Given the description of an element on the screen output the (x, y) to click on. 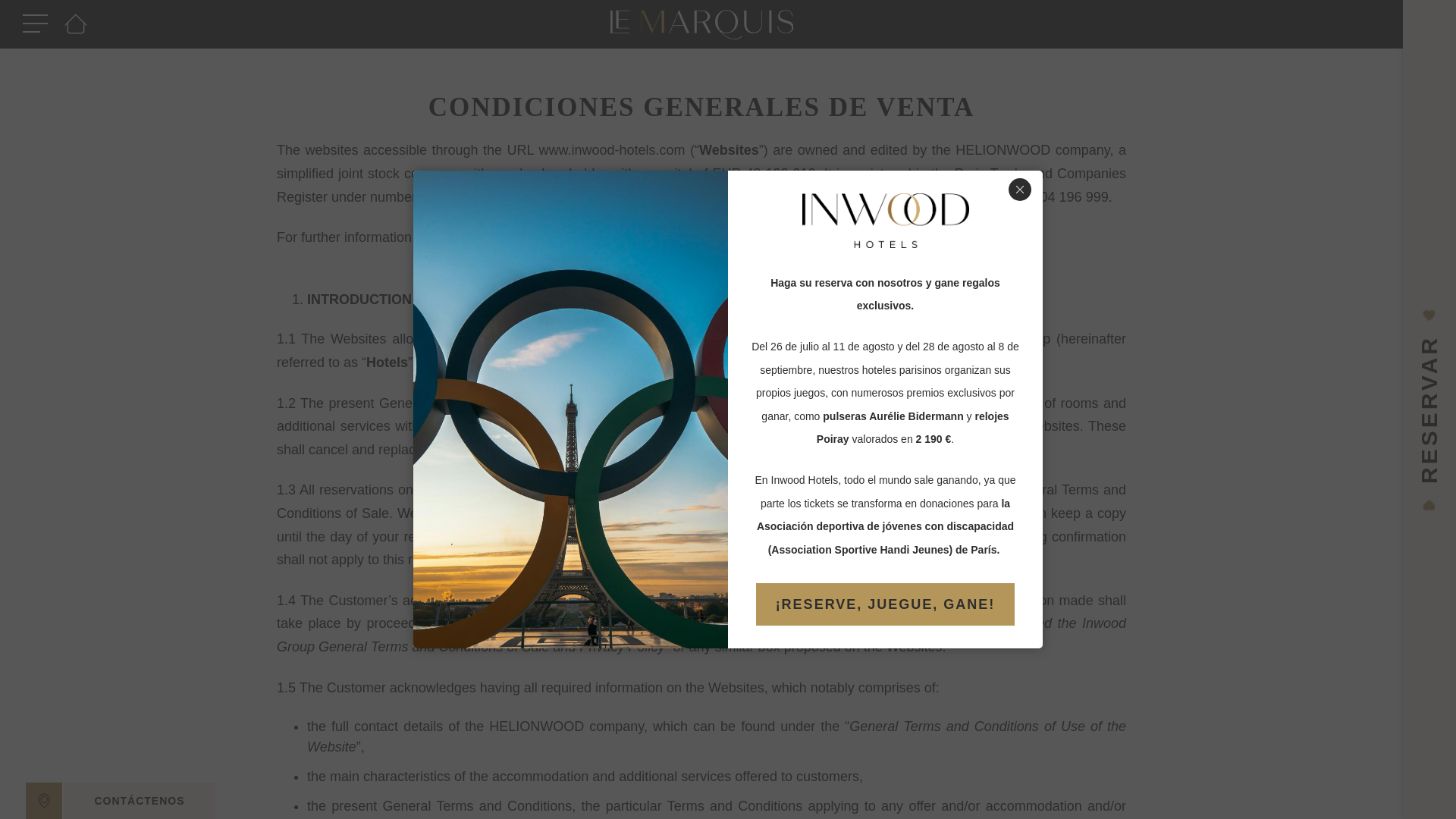
Cerrar (1019, 189)
